Given the description of an element on the screen output the (x, y) to click on. 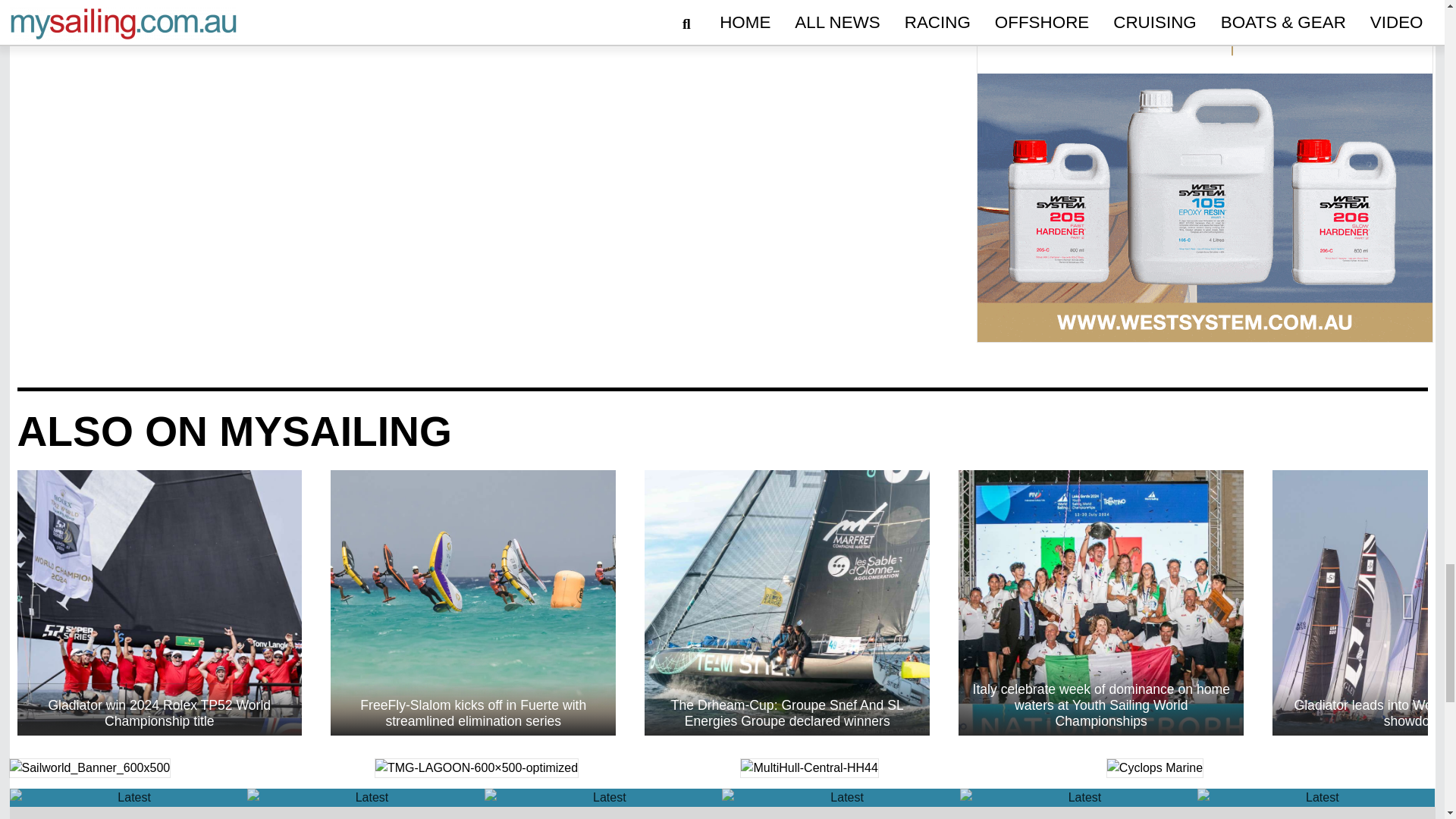
Gladiator win 2024 Rolex TP52 World Championship title (158, 602)
